Given the description of an element on the screen output the (x, y) to click on. 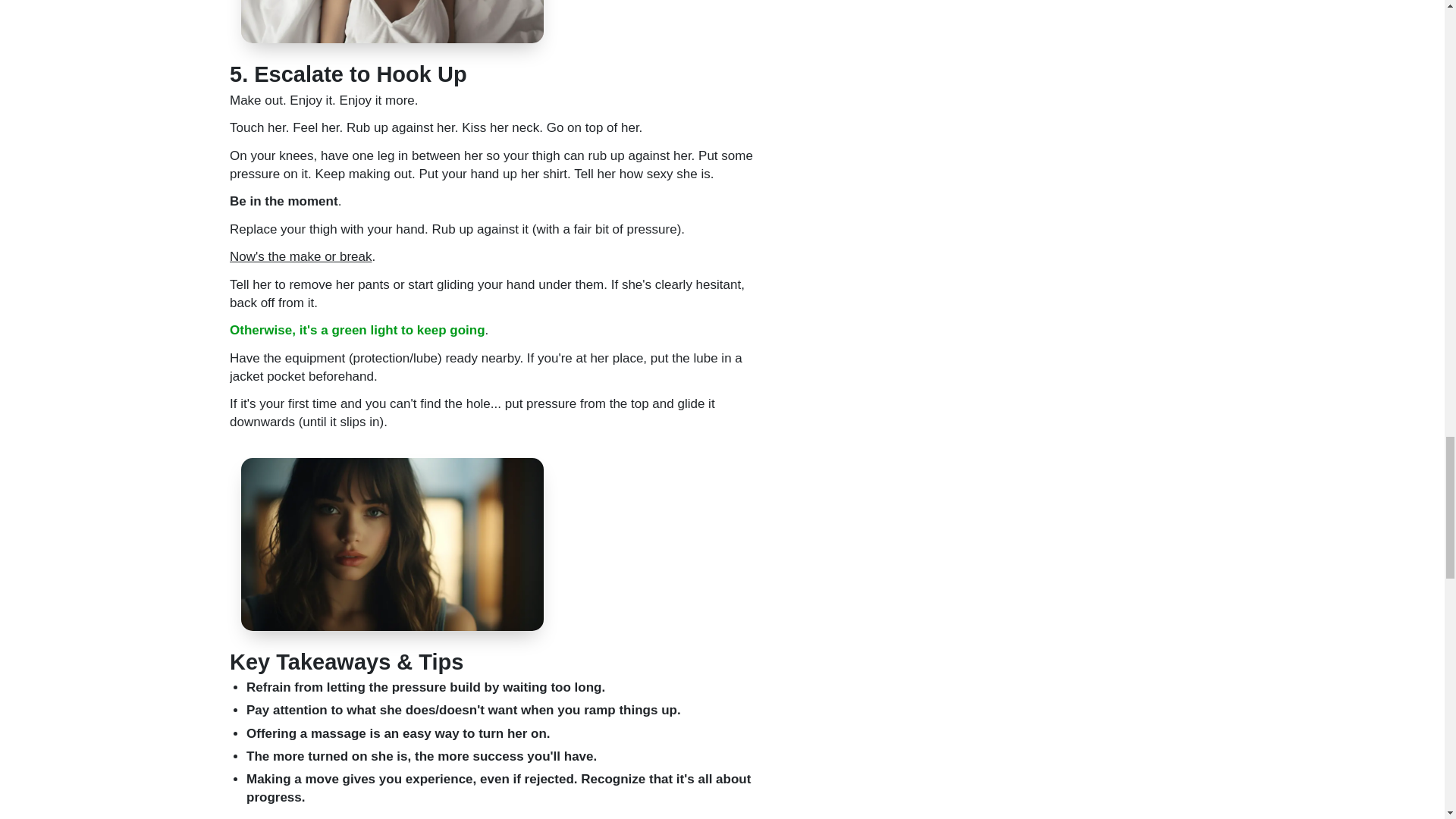
Woman on a bed (392, 21)
Close up Girl Photo (392, 543)
